Given the description of an element on the screen output the (x, y) to click on. 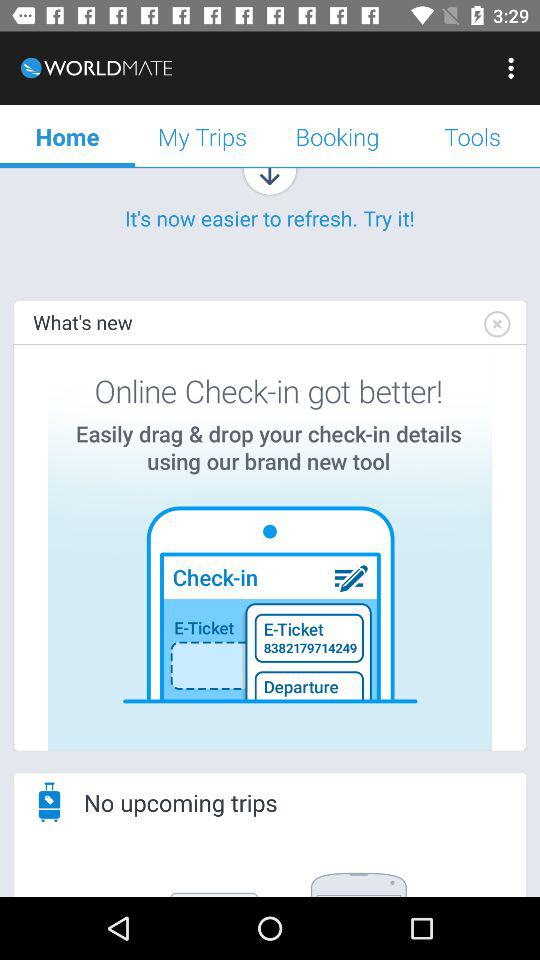
turn on item above no upcoming trips icon (269, 547)
